Given the description of an element on the screen output the (x, y) to click on. 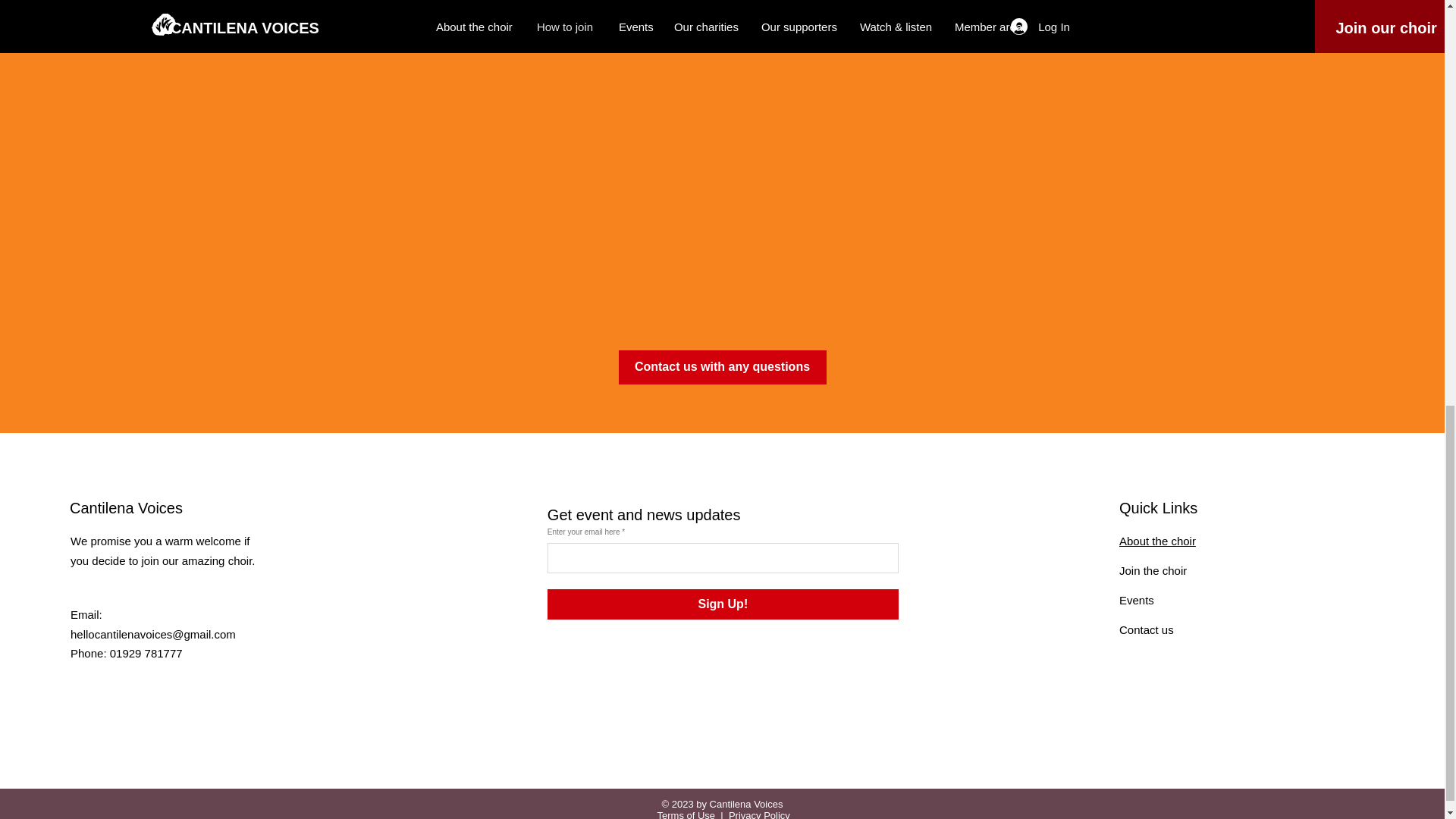
About the choir (1157, 540)
Join the choir (1152, 570)
Events (1136, 599)
Sign Up! (722, 603)
Contact us (1146, 629)
Contact us with any questions (722, 367)
Terms of Use (687, 814)
Privacy Policy (759, 814)
